Given the description of an element on the screen output the (x, y) to click on. 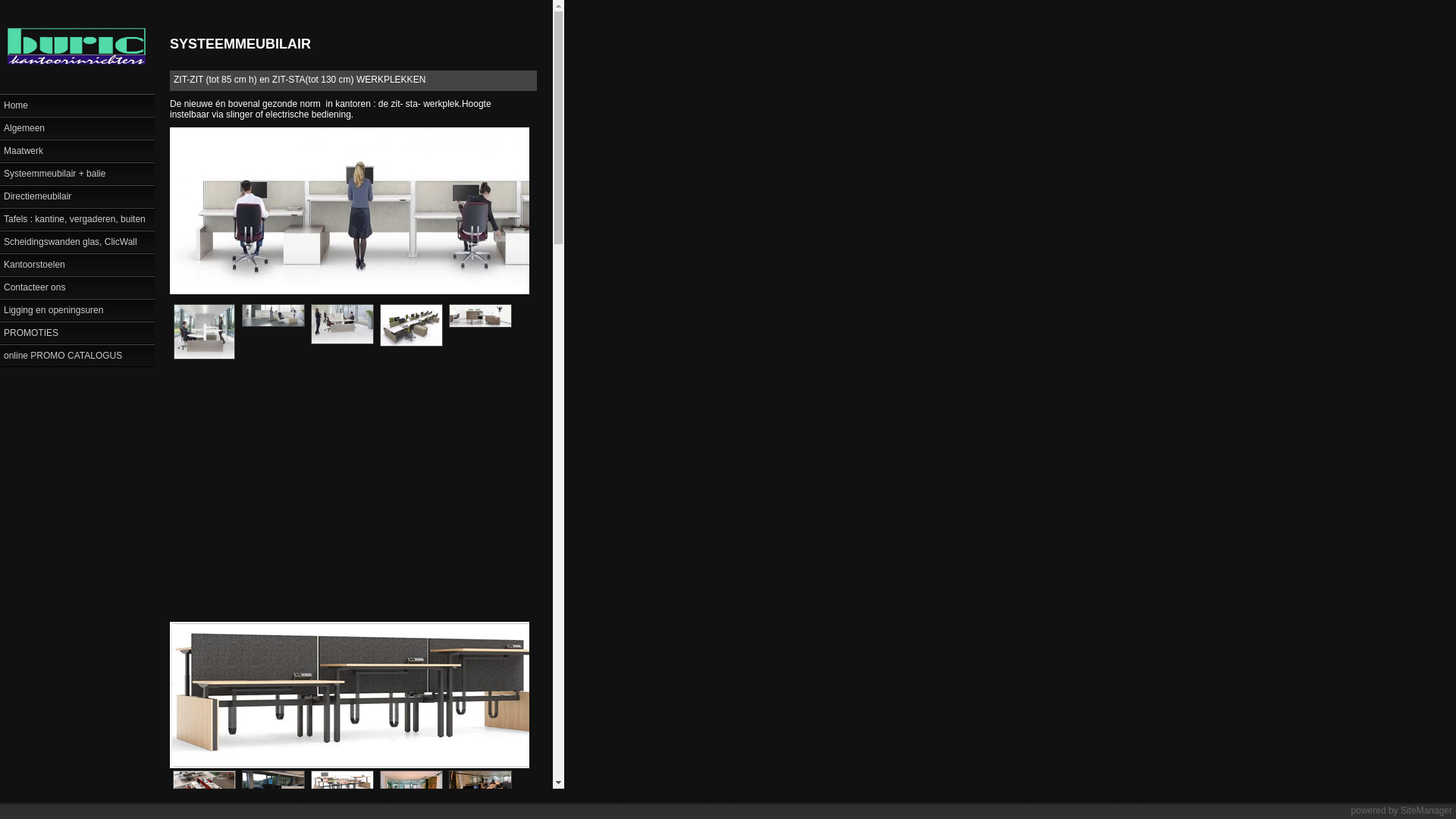
Contacteer ons Element type: text (77, 286)
PROMOTIES Element type: text (77, 332)
Algemeen Element type: text (77, 127)
Systeemmeubilair + balie Element type: text (77, 172)
Scheidingswanden glas, ClicWall Element type: text (77, 241)
online PROMO CATALOGUS Element type: text (77, 354)
Maatwerk Element type: text (77, 150)
Kantoorstoelen Element type: text (77, 263)
powered by SiteManager Element type: text (1401, 810)
Ligging en openingsuren Element type: text (77, 309)
Directiemeubilair Element type: text (77, 195)
Tafels : kantine, vergaderen, buiten Element type: text (77, 218)
Home Element type: text (77, 104)
